Given the description of an element on the screen output the (x, y) to click on. 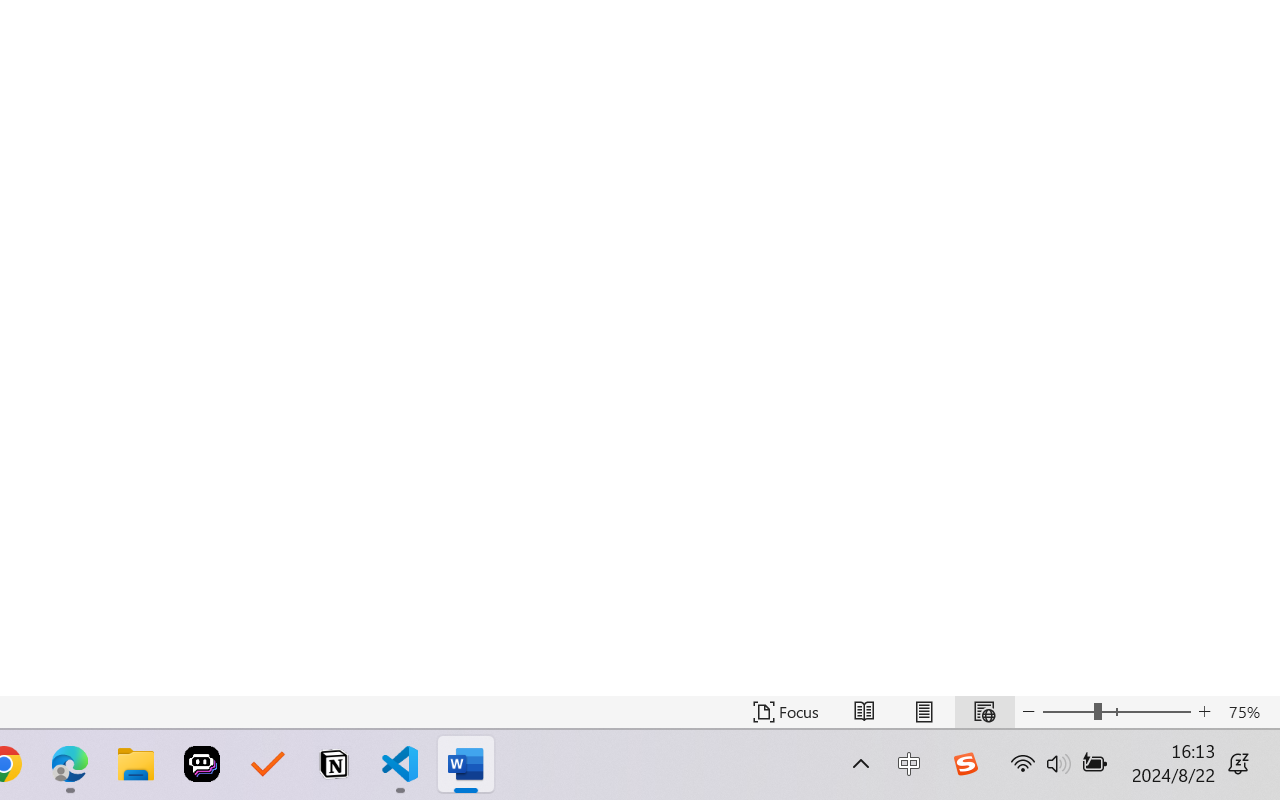
Zoom (1116, 712)
